Given the description of an element on the screen output the (x, y) to click on. 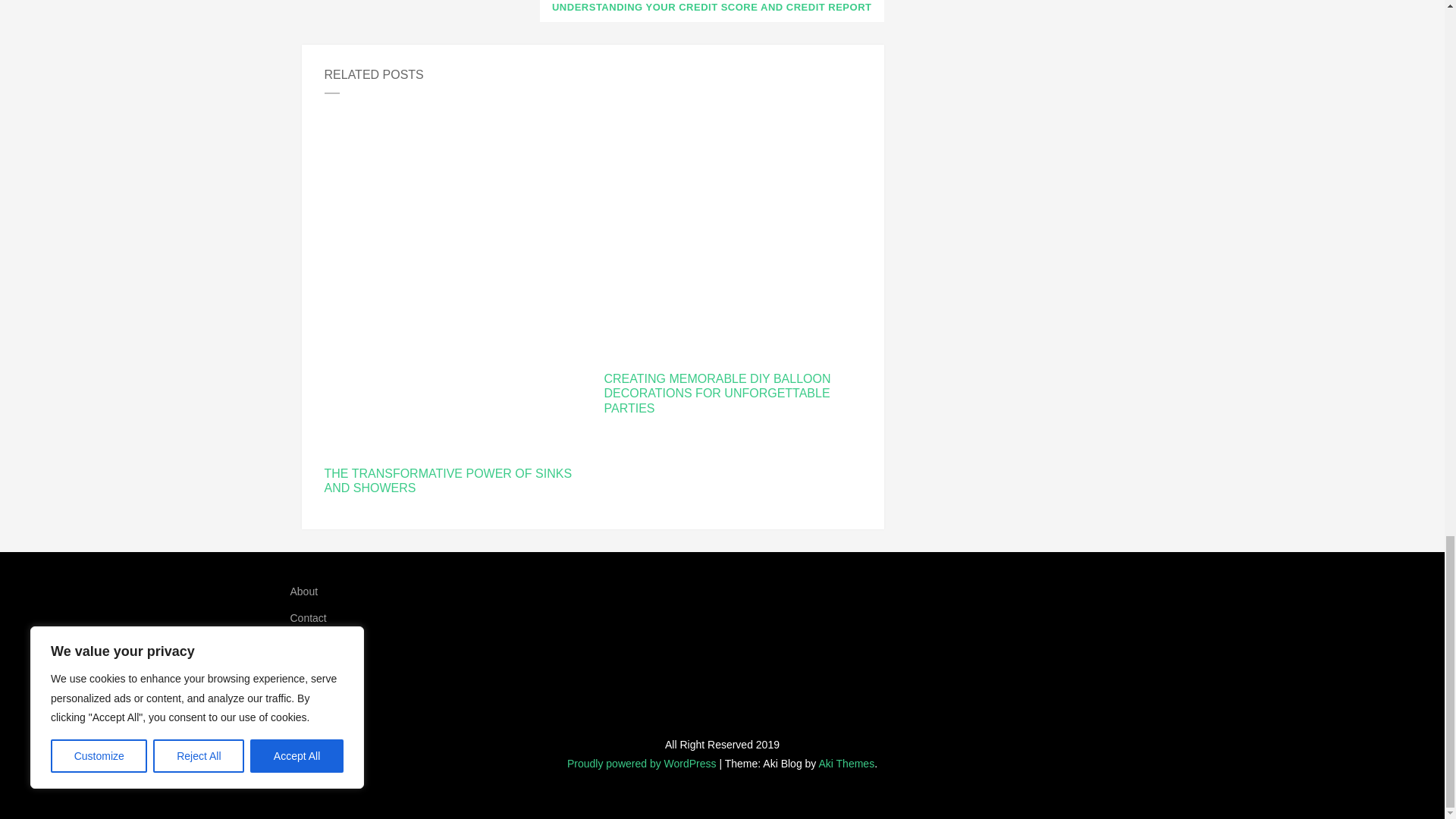
UNDERSTANDING YOUR CREDIT SCORE AND CREDIT REPORT (711, 11)
THE TRANSFORMATIVE POWER OF SINKS AND SHOWERS (452, 480)
